Given the description of an element on the screen output the (x, y) to click on. 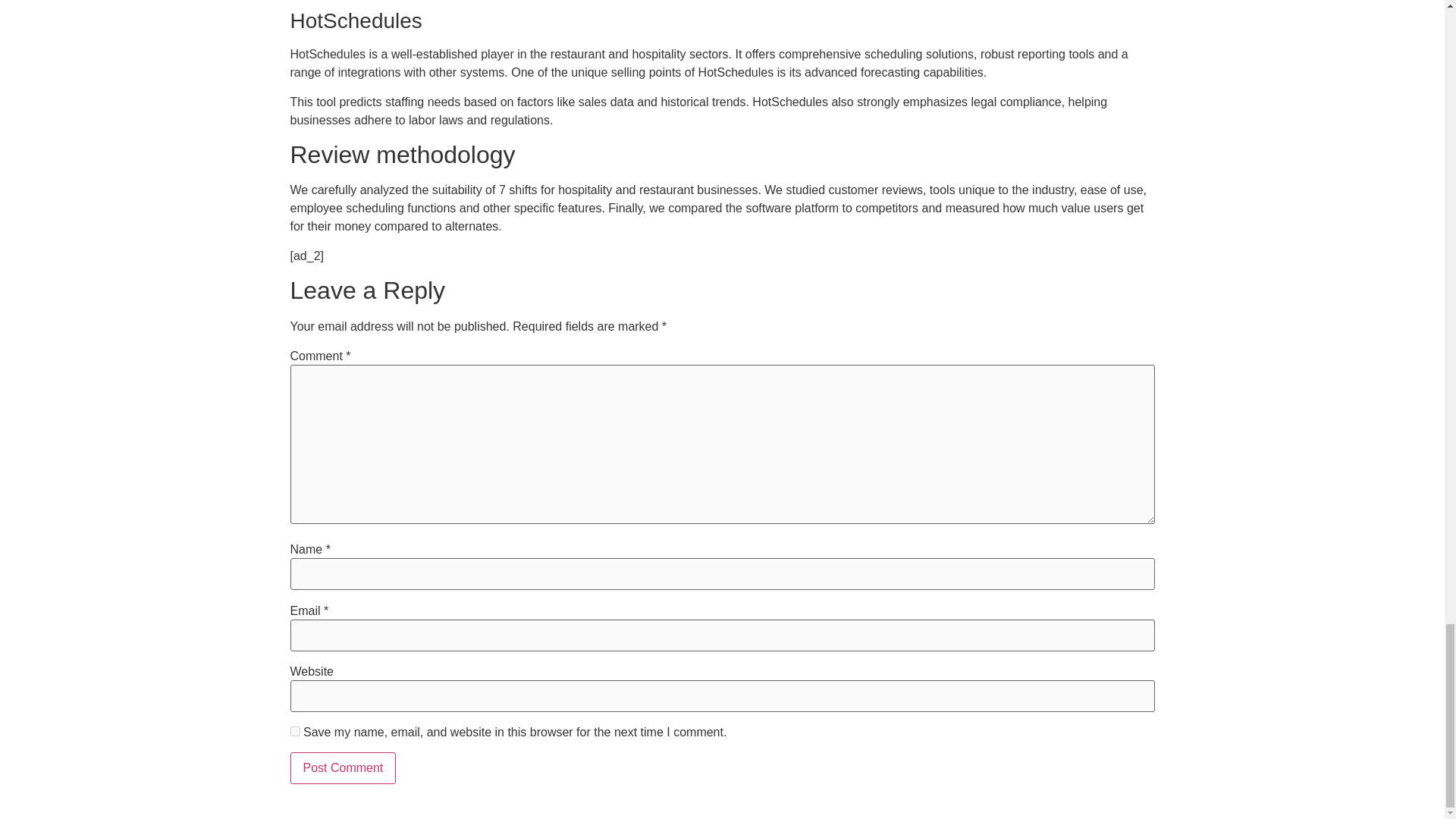
Post Comment (342, 767)
Post Comment (342, 767)
yes (294, 731)
